Given the description of an element on the screen output the (x, y) to click on. 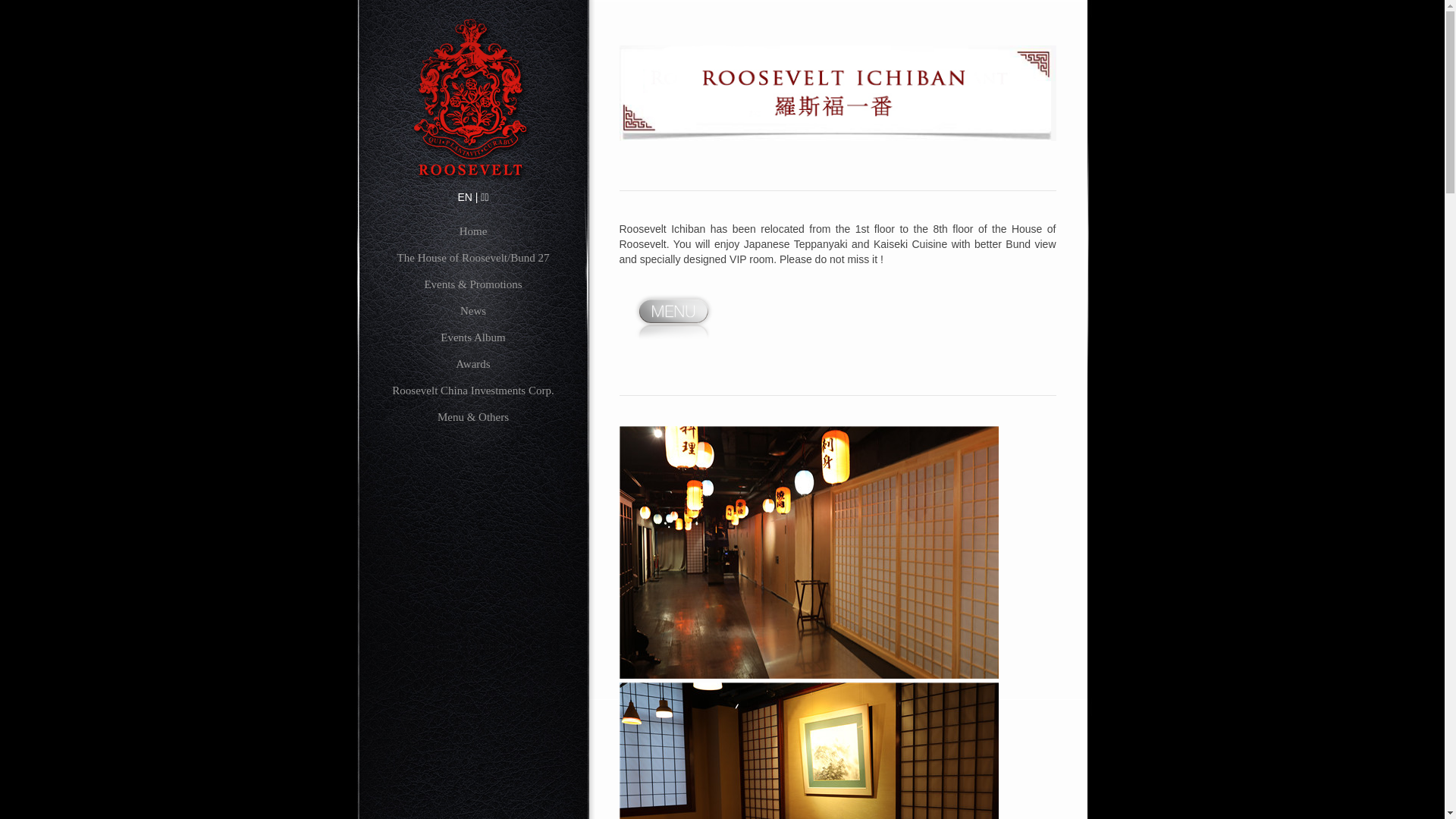
Roosevelt China Investments Corp. Element type: text (472, 392)
Home Element type: text (472, 232)
Events & Promotions Element type: text (472, 286)
Awards Element type: text (472, 365)
Events Album Element type: text (472, 339)
The House of Roosevelt/Bund 27 Element type: text (472, 259)
News Element type: text (472, 312)
menu Element type: hover (673, 314)
Menu & Others Element type: text (472, 418)
Roosevelt Ichiban Element type: hover (836, 93)
